Given the description of an element on the screen output the (x, y) to click on. 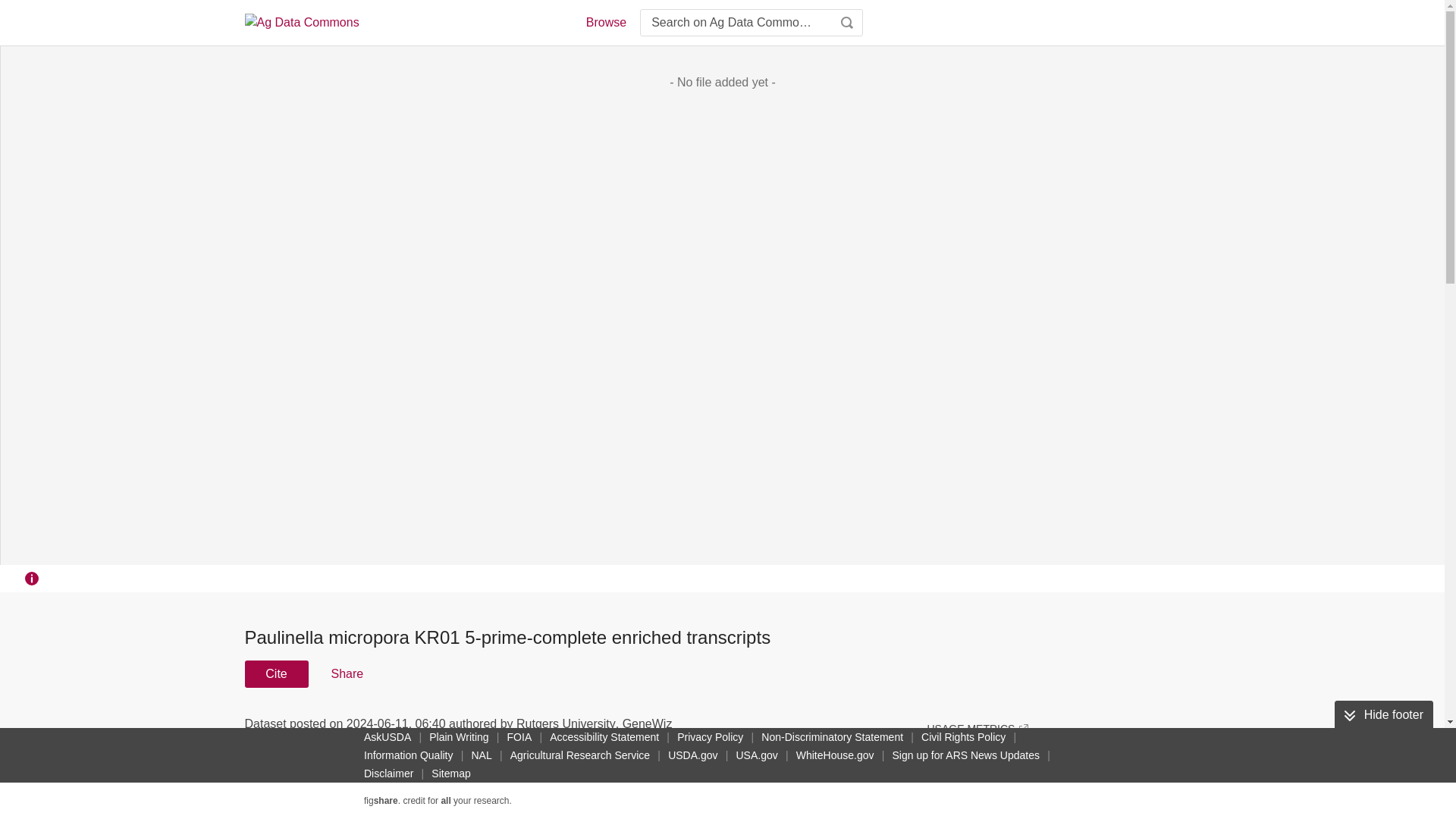
AskUSDA (386, 737)
USA.gov (755, 755)
Information Quality (408, 755)
Civil Rights Policy (963, 737)
Hide footer (1383, 715)
Agricultural Research Service (579, 755)
Cite (275, 673)
Disclaimer (388, 773)
USDA.gov (692, 755)
Privacy Policy (710, 737)
